Given the description of an element on the screen output the (x, y) to click on. 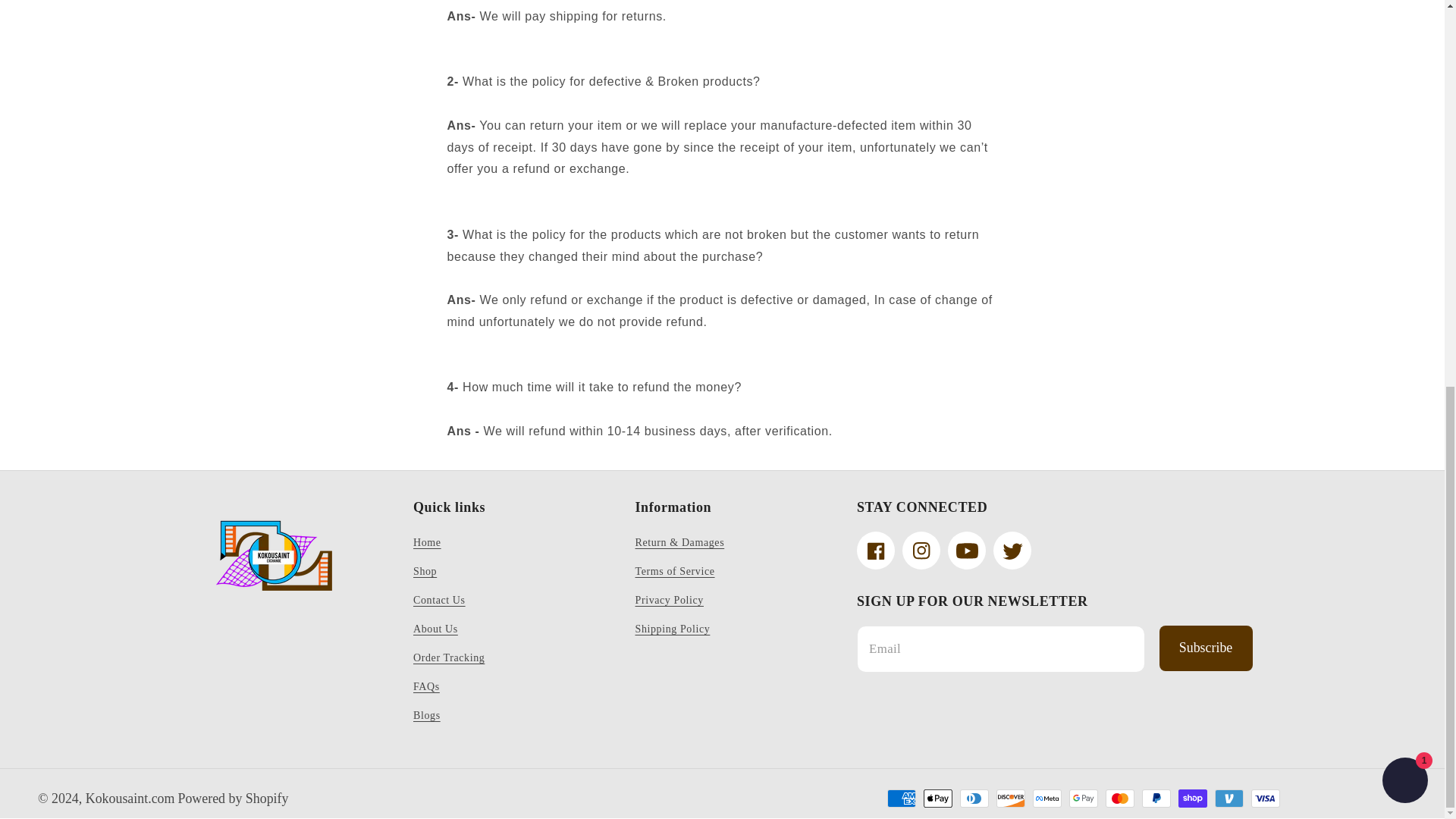
Shopify online store chat (1404, 51)
Privacy Policy (668, 600)
Instagram (921, 550)
Shipping Policy (672, 629)
Blogs (427, 715)
Terms of Service (674, 571)
About Us (435, 629)
Contact Us (439, 600)
Home (427, 544)
Facebook (876, 550)
Order Tracking (448, 657)
FAQs (426, 686)
